Given the description of an element on the screen output the (x, y) to click on. 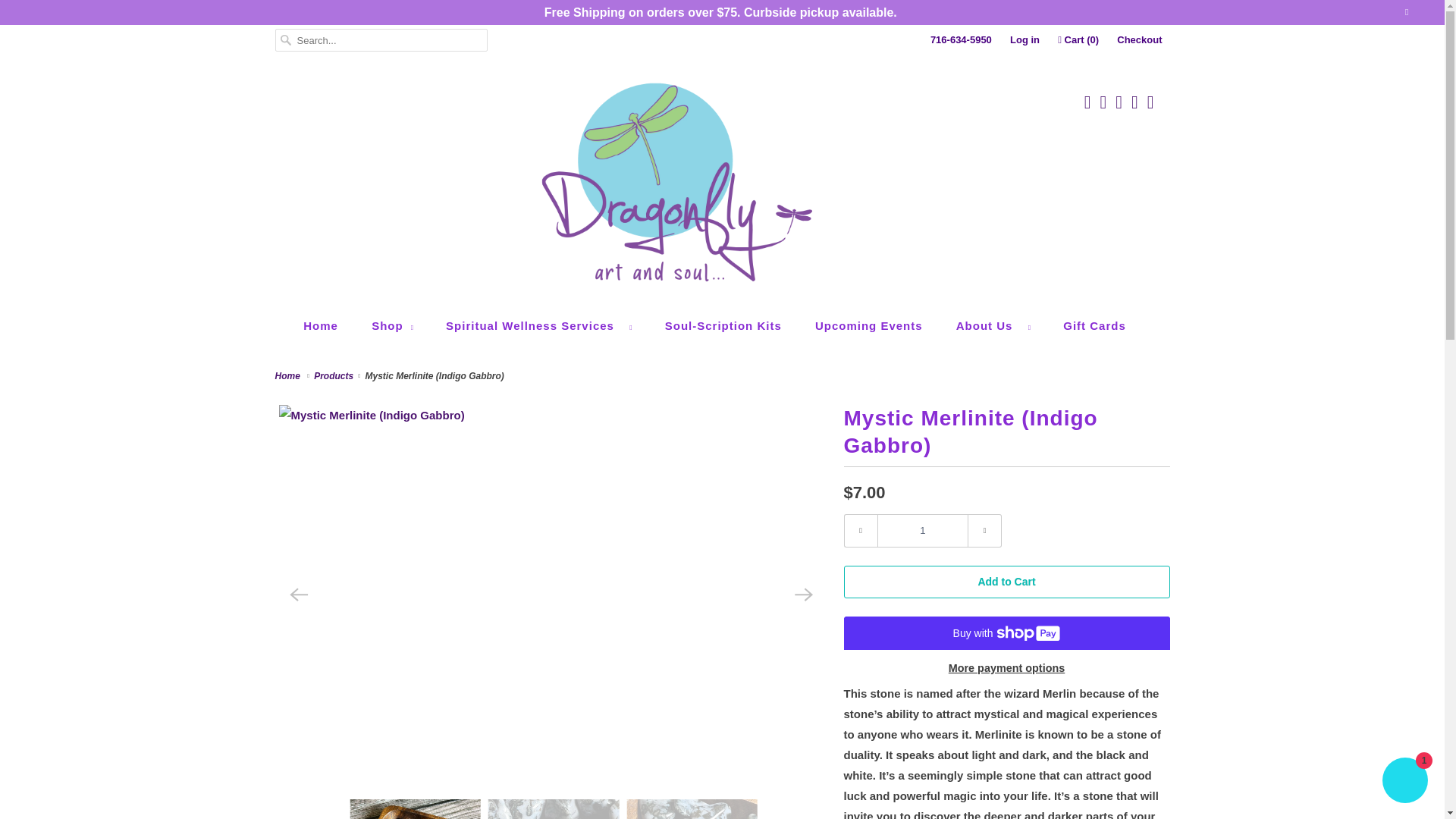
Products (334, 376)
Dragonfly Art and Soul Metaphysical Shop (289, 376)
716-634-5950 (960, 39)
1 (922, 530)
Checkout (1138, 39)
Log in (1024, 39)
